Given the description of an element on the screen output the (x, y) to click on. 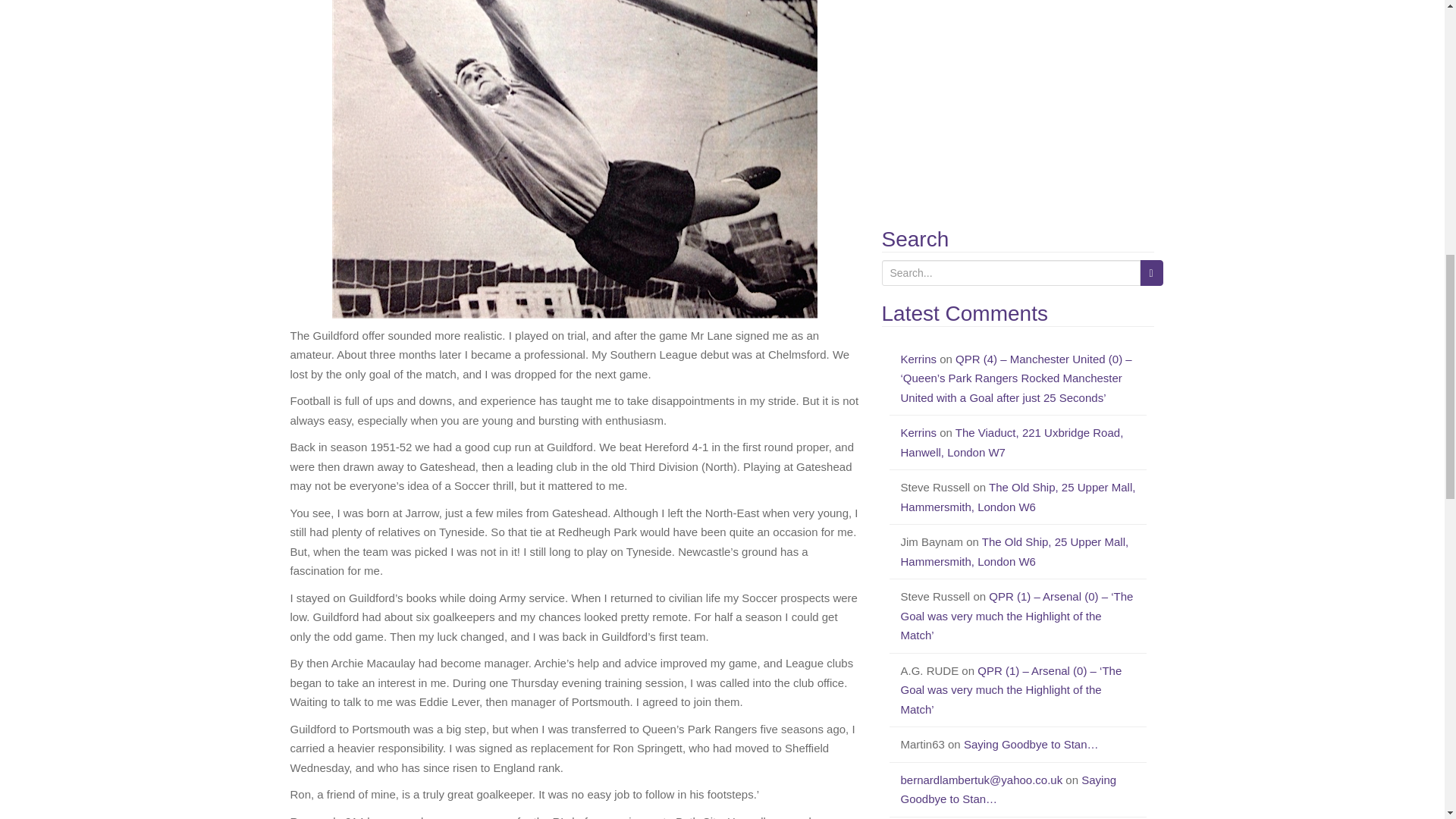
Kerrins (919, 358)
The Old Ship, 25 Upper Mall, Hammersmith, London W6 (1015, 551)
The Old Ship, 25 Upper Mall, Hammersmith, London W6 (1018, 496)
The Viaduct, 221 Uxbridge Road, Hanwell, London W7 (1012, 441)
Kerrins (919, 431)
